Given the description of an element on the screen output the (x, y) to click on. 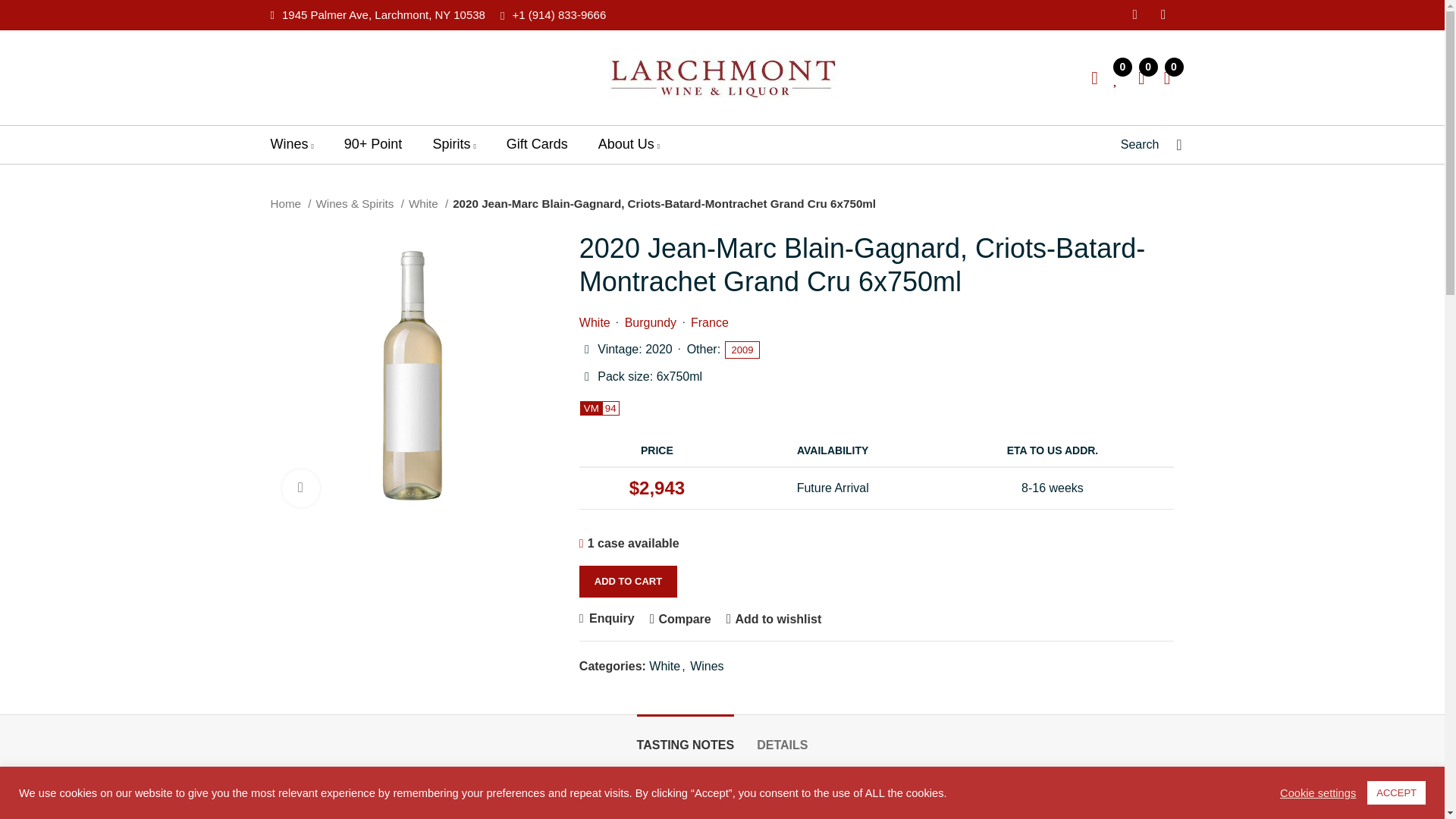
Wines (291, 144)
